Given the description of an element on the screen output the (x, y) to click on. 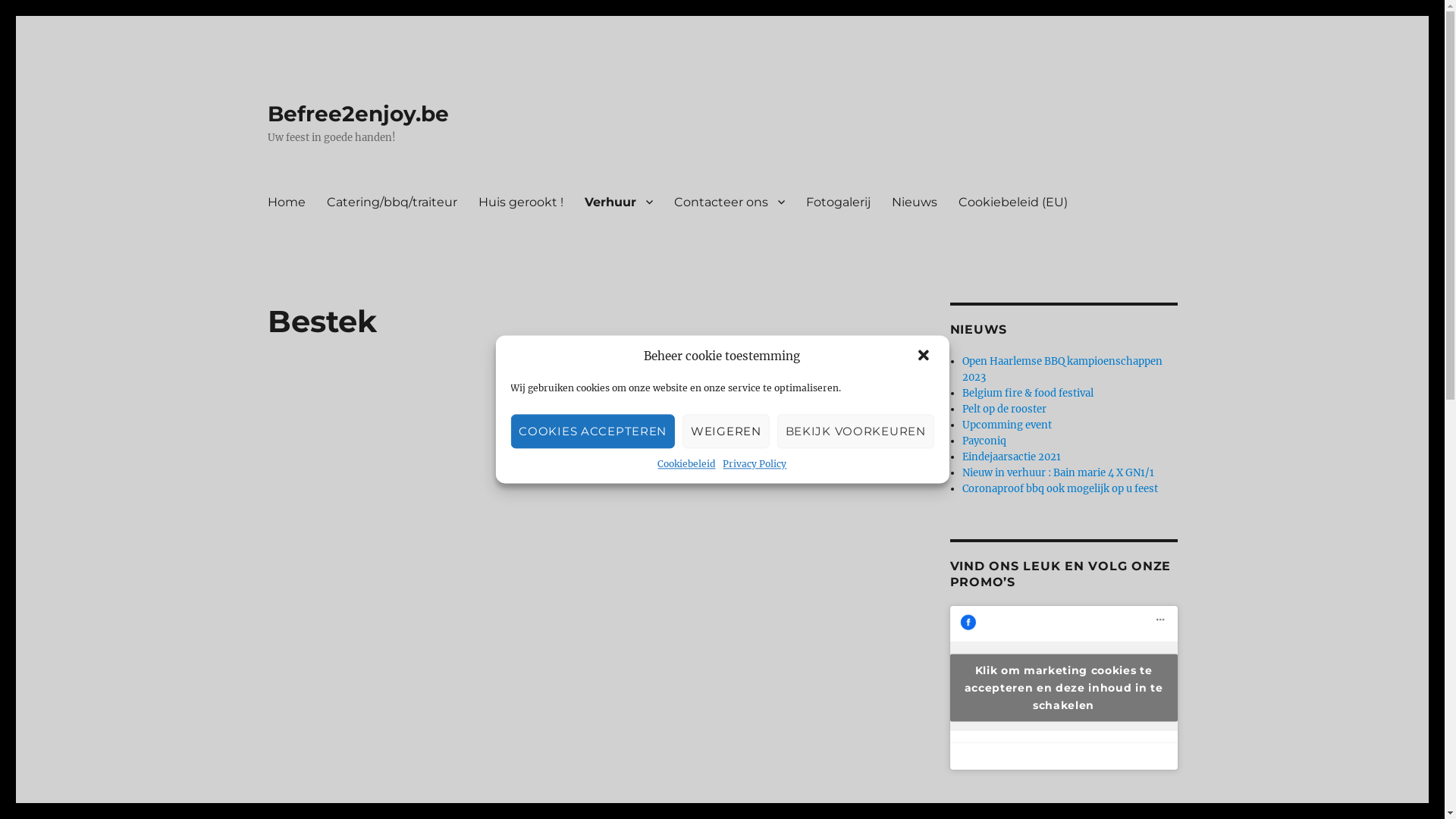
Eindejaarsactie 2021 Element type: text (1011, 456)
Fotogalerij Element type: text (837, 201)
Coronaproof bbq ook mogelijk op u feest Element type: text (1059, 488)
BEKIJK VOORKEUREN Element type: text (855, 431)
Privacy Policy Element type: text (754, 464)
Verhuur Element type: text (617, 201)
Huis gerookt ! Element type: text (520, 201)
Cookiebeleid Element type: text (686, 464)
Nieuws Element type: text (914, 201)
Catering/bbq/traiteur Element type: text (391, 201)
Nieuw in verhuur : Bain marie 4 X GN1/1 Element type: text (1058, 472)
Cookiebeleid (EU) Element type: text (1012, 201)
WEIGEREN Element type: text (725, 431)
COOKIES ACCEPTEREN Element type: text (592, 431)
Belgium fire & food festival Element type: text (1027, 392)
Pelt op de rooster Element type: text (1004, 408)
Befree2enjoy.be Element type: text (357, 113)
Contacteer ons Element type: text (728, 201)
Home Element type: text (285, 201)
Upcomming event Element type: text (1006, 424)
Payconiq Element type: text (984, 440)
Open Haarlemse BBQ kampioenschappen 2023 Element type: text (1062, 368)
